Given the description of an element on the screen output the (x, y) to click on. 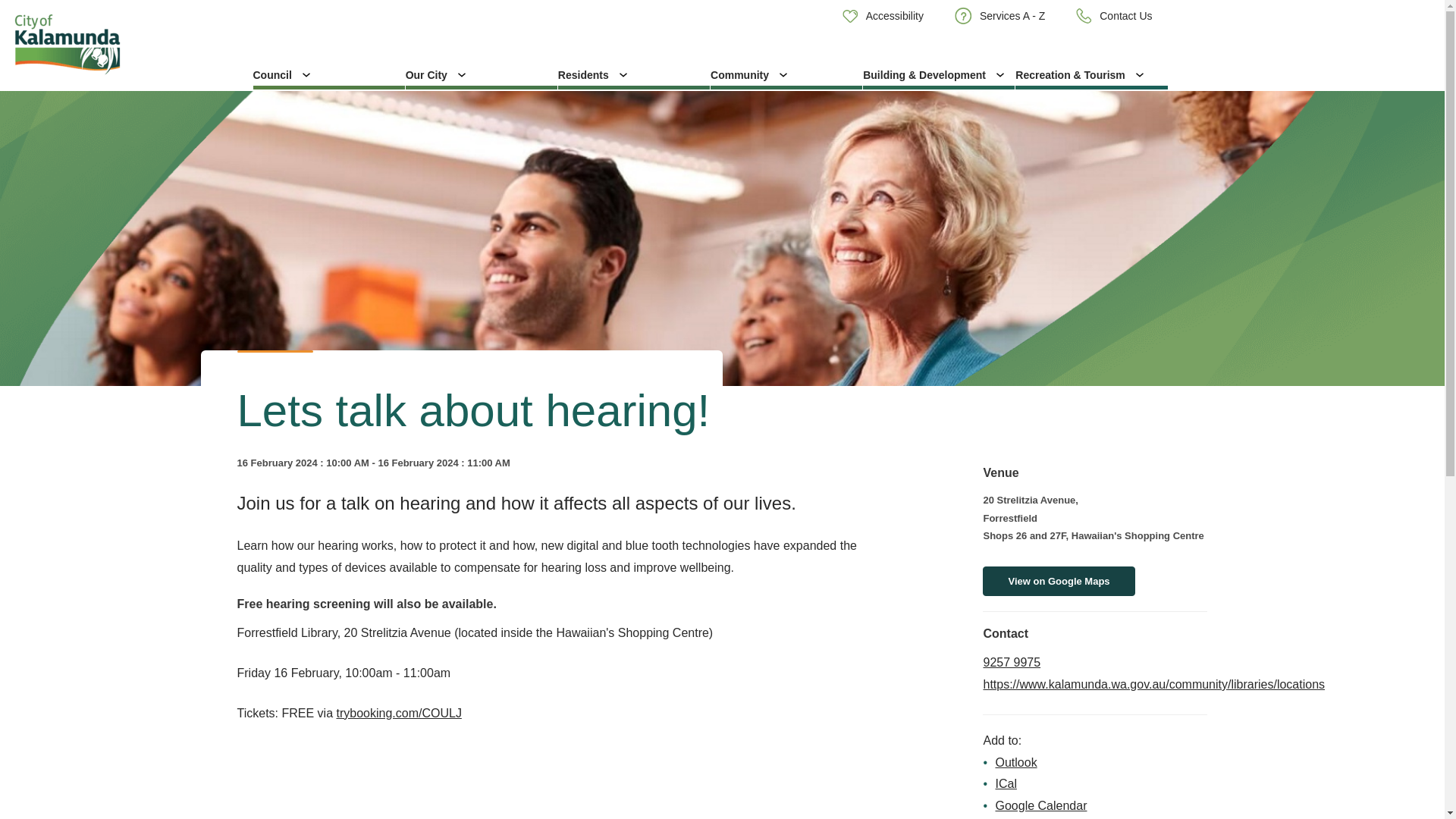
Services A - Z (999, 15)
City of Kalamunda (119, 44)
Contact Us (1114, 15)
Opens in a new tab (1153, 684)
Council (328, 74)
Accessibility (883, 15)
